Given the description of an element on the screen output the (x, y) to click on. 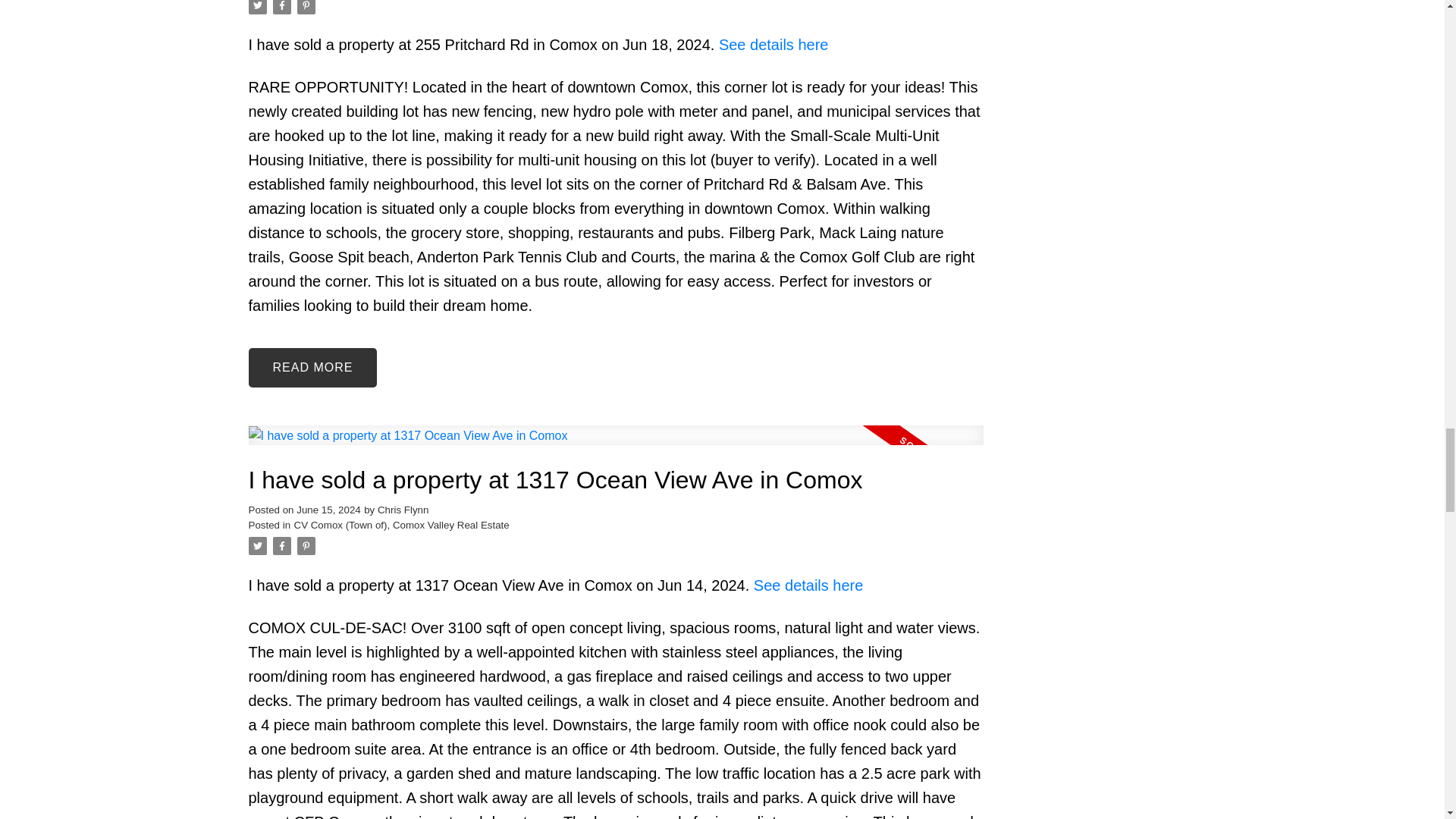
Read full post (616, 444)
